Given the description of an element on the screen output the (x, y) to click on. 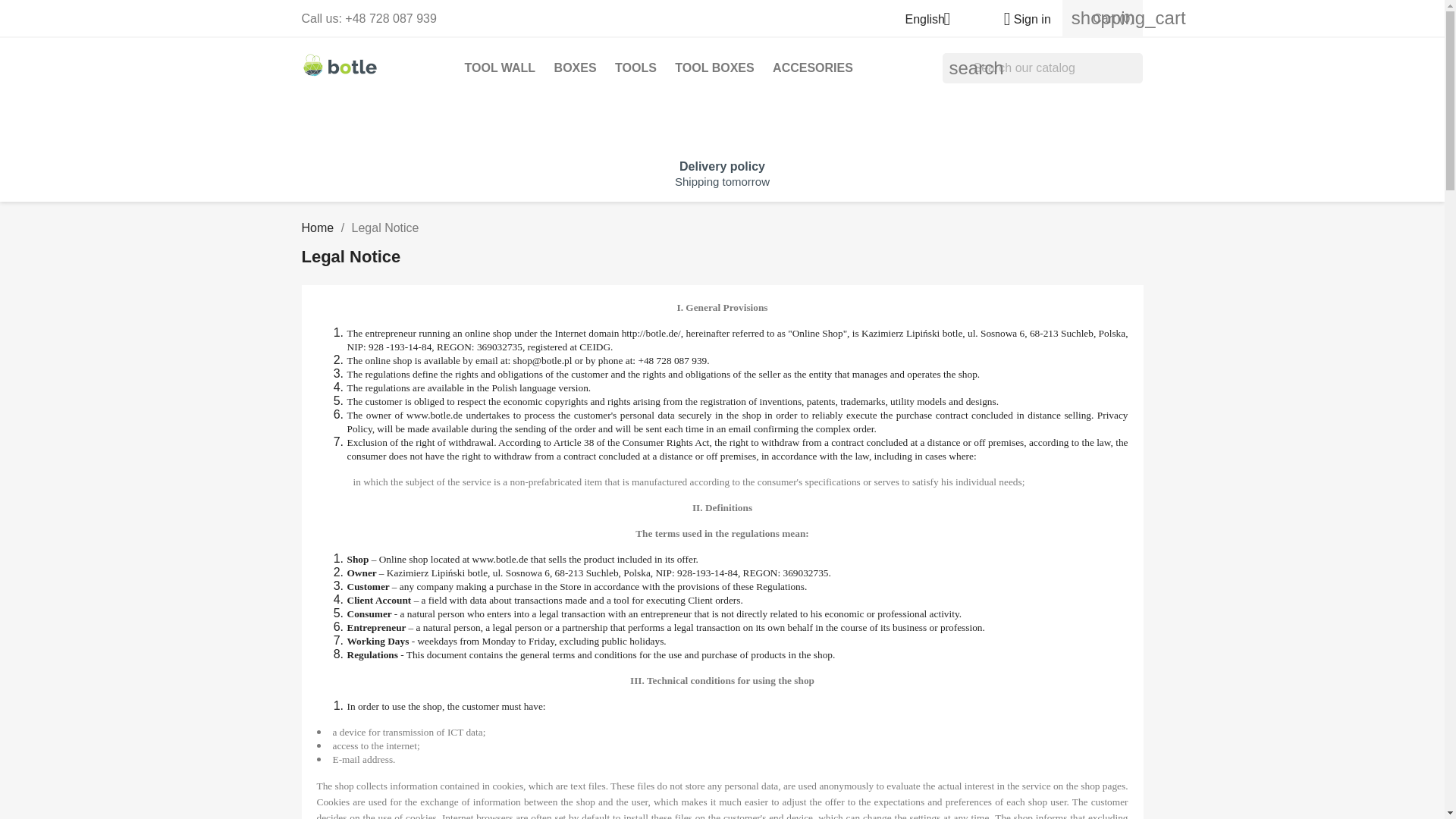
Home (317, 227)
Log in to your customer account (1020, 19)
TOOLS (635, 68)
BOXES (575, 68)
TOOL BOXES (713, 68)
ACCESORIES (812, 68)
TOOL WALL (500, 68)
